Given the description of an element on the screen output the (x, y) to click on. 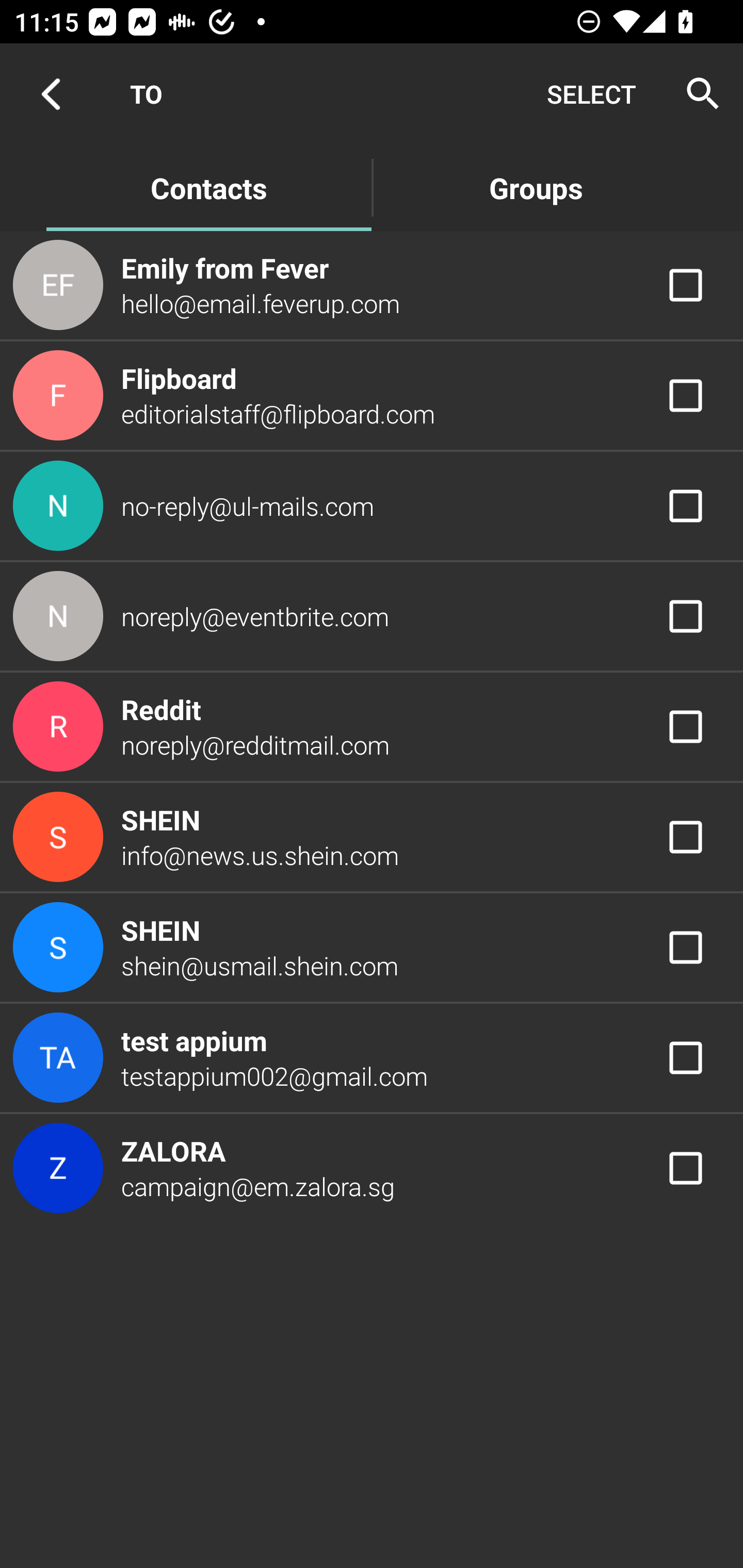
Navigate up (50, 93)
SELECT (590, 93)
Search (696, 93)
Contacts (208, 187)
Groups (535, 187)
Emily from Fever hello@email.feverup.com (371, 284)
Flipboard editorialstaff@flipboard.com (371, 395)
no-reply@ul-mails.com (371, 505)
noreply@eventbrite.com (371, 616)
Reddit noreply@redditmail.com (371, 726)
SHEIN info@news.us.shein.com (371, 836)
SHEIN shein@usmail.shein.com (371, 947)
test appium testappium002@gmail.com (371, 1057)
ZALORA campaign@em.zalora.sg (371, 1168)
